Given the description of an element on the screen output the (x, y) to click on. 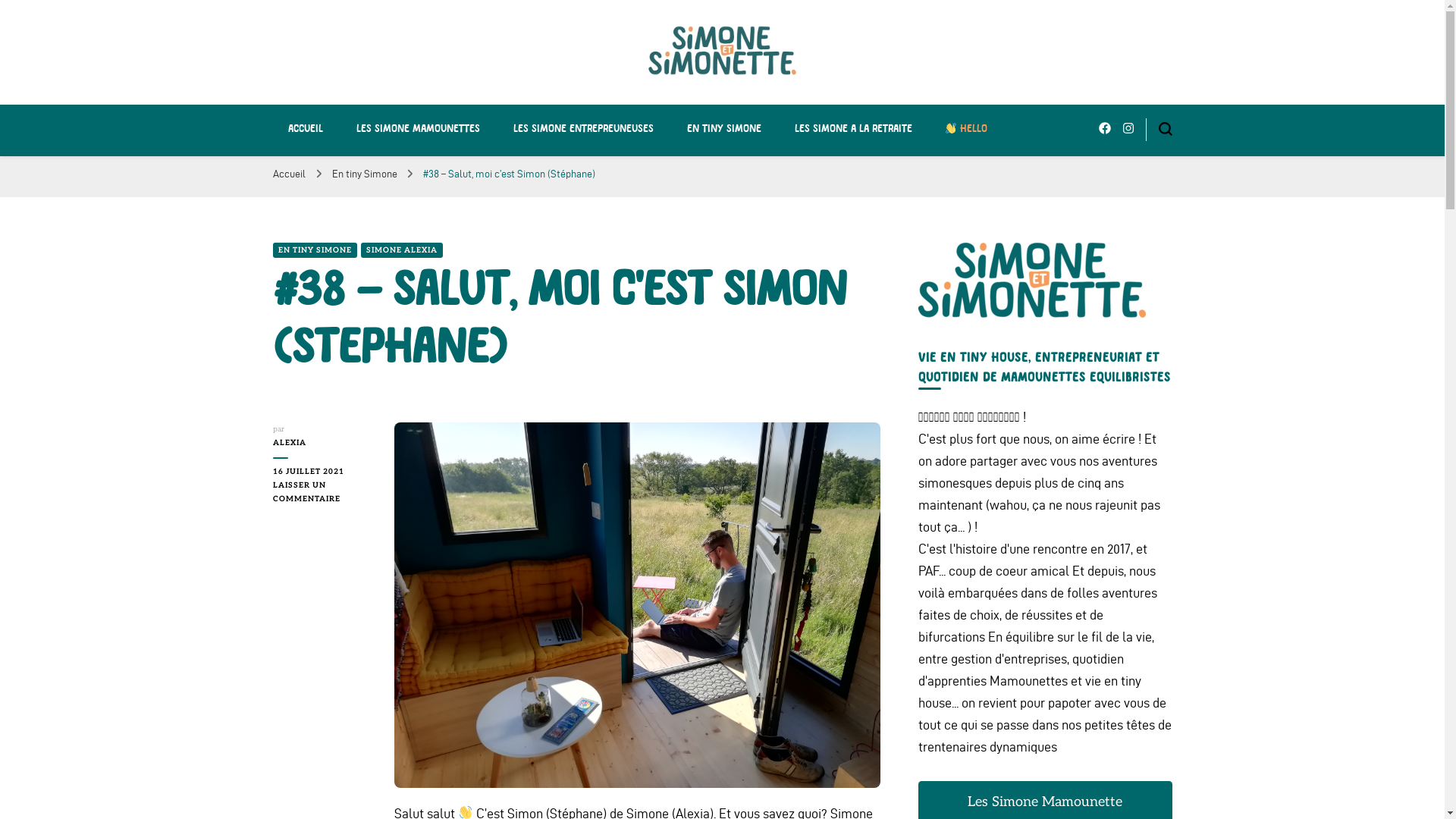
HELLO Element type: text (965, 128)
LES SIMONE ENTREPREUNEUSES Element type: text (582, 128)
SIMONE ALEXIA Element type: text (401, 249)
16 JUILLET 2021 Element type: text (322, 471)
Simone et Simonette Element type: text (451, 109)
Accueil Element type: text (289, 173)
ACCUEIL Element type: text (305, 128)
ALEXIA Element type: text (322, 442)
En tiny Simone Element type: text (365, 173)
EN TINY SIMONE Element type: text (724, 128)
LES SIMONE MAMOUNETTES Element type: text (418, 128)
EN TINY SIMONE Element type: text (315, 249)
